Given the description of an element on the screen output the (x, y) to click on. 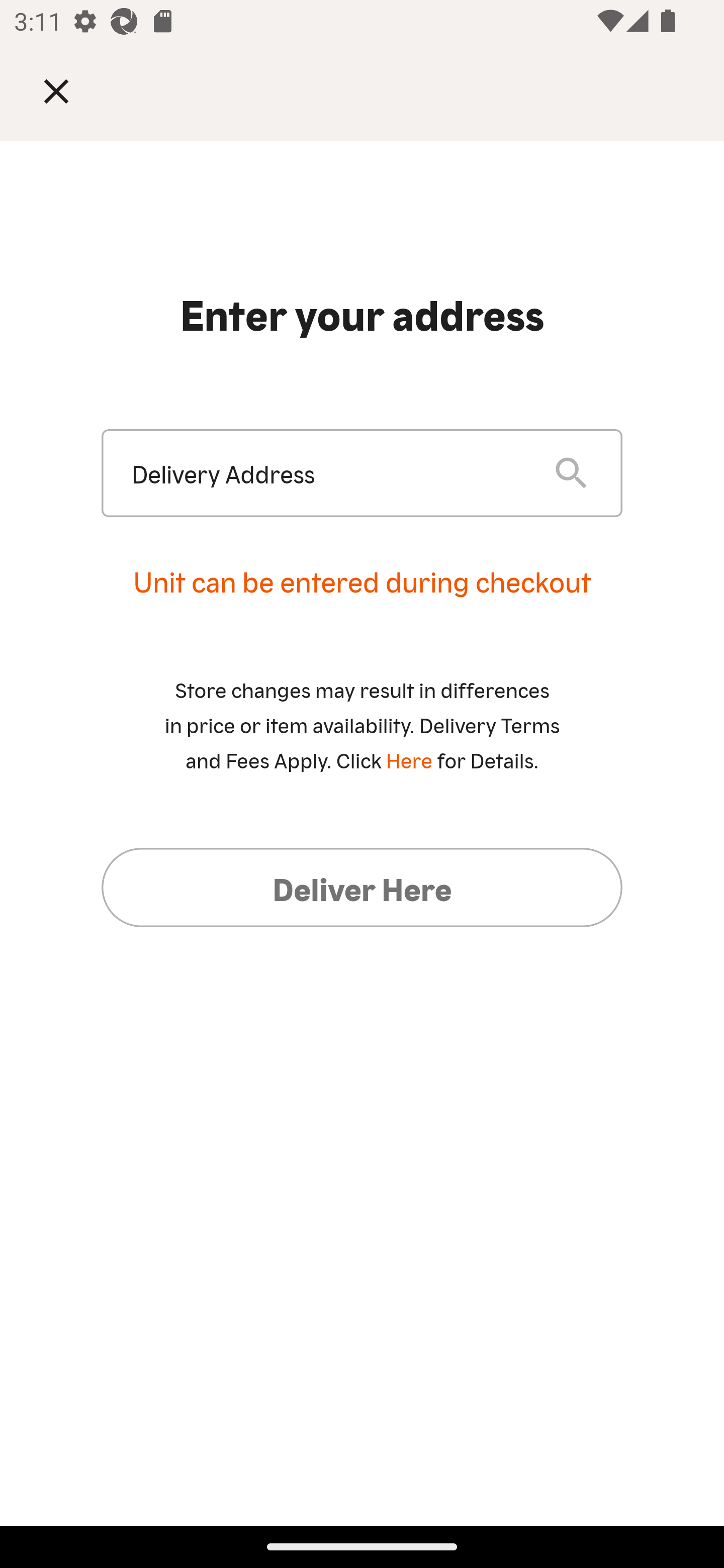
 (70, 90)
Delivery Address (326, 473)
Deliver Here (361, 887)
